Given the description of an element on the screen output the (x, y) to click on. 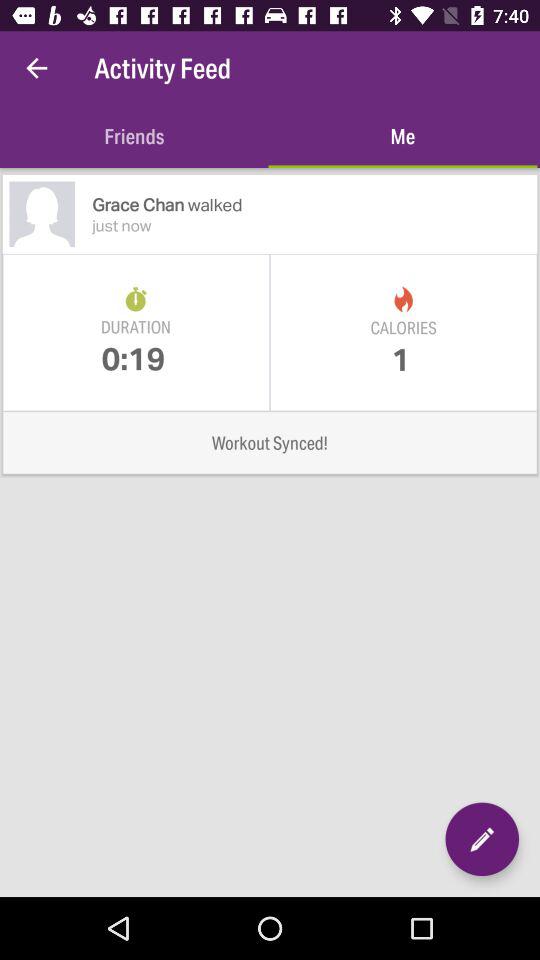
a place to edit the details on the page (482, 839)
